Given the description of an element on the screen output the (x, y) to click on. 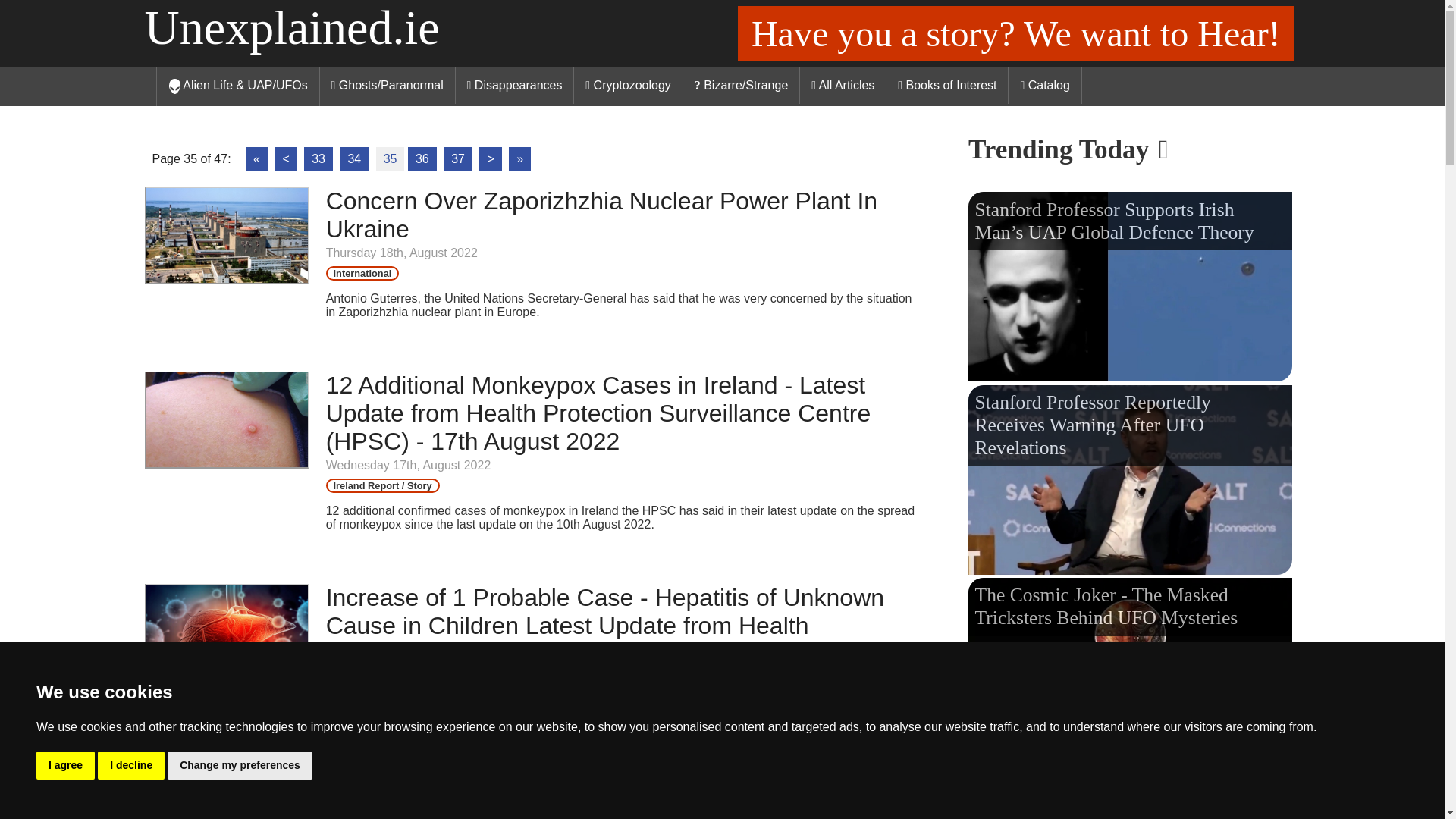
Concern Over Zaporizhzhia Nuclear Power Plant In Ukraine (225, 279)
Cryptozoology (627, 85)
 Disappearances (515, 85)
37 (457, 159)
Books of Interest (947, 85)
Catalog (1045, 85)
Change my preferences (240, 765)
 All Articles (842, 85)
Have you a story? We want to Hear! (1016, 33)
All Articles (842, 85)
Unexplained.ie (291, 27)
Disappearances (515, 85)
 Books of Interest (947, 85)
33 (318, 159)
Have you a story? We want to Hear! (1016, 33)
